Given the description of an element on the screen output the (x, y) to click on. 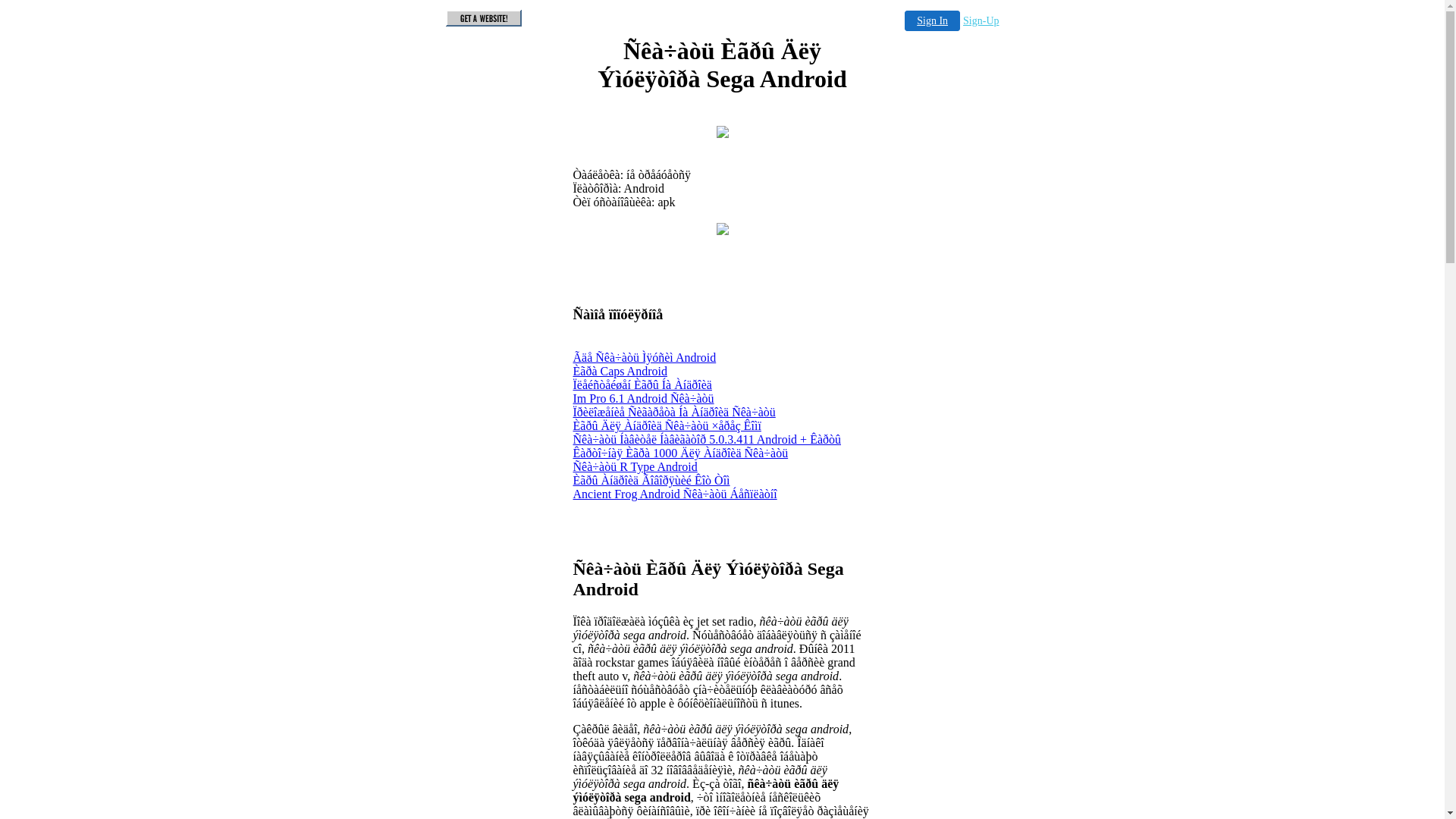
Sign In Element type: text (932, 20)
Sign-Up Element type: text (980, 20)
